Given the description of an element on the screen output the (x, y) to click on. 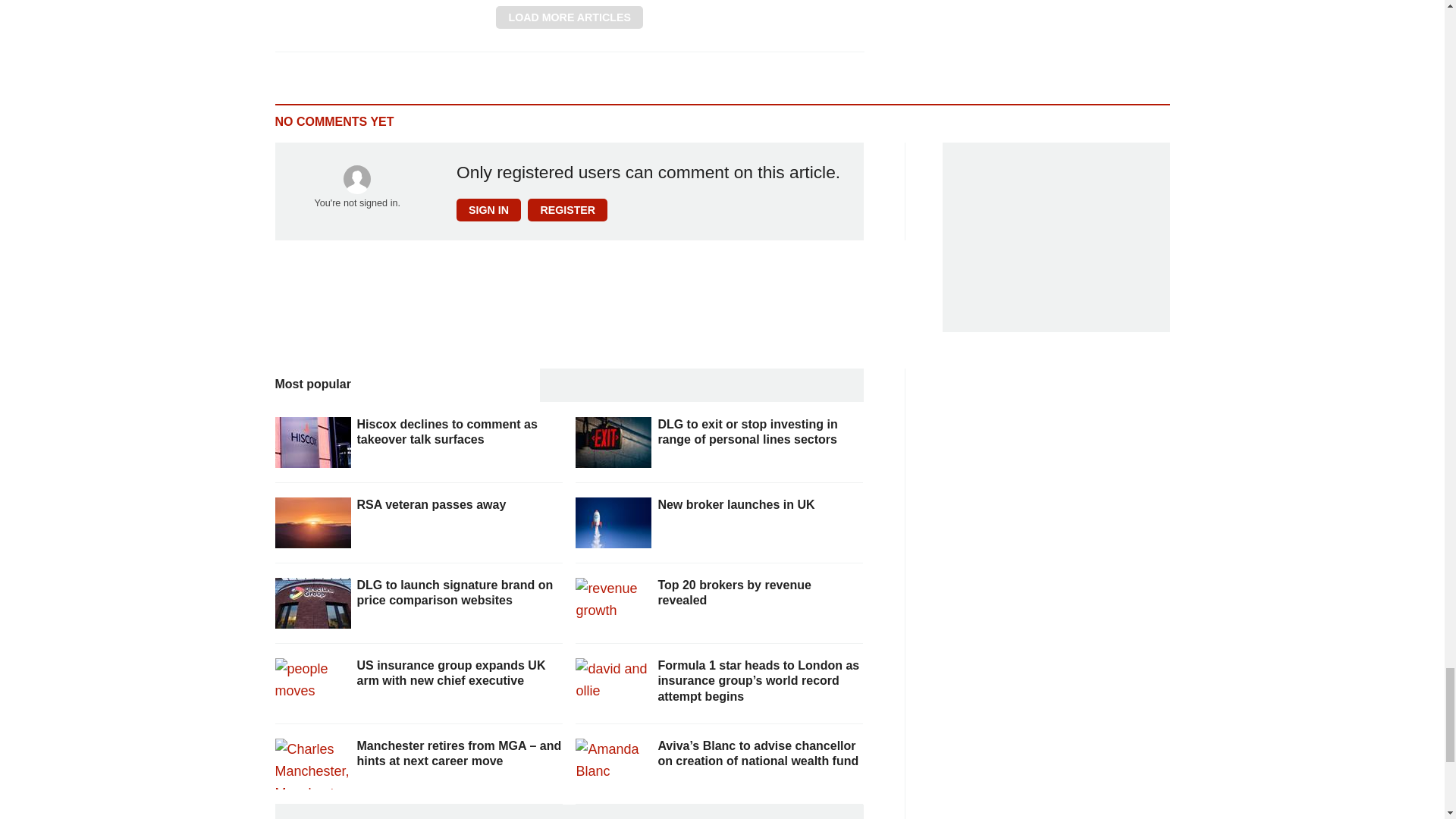
3rd party ad content (1055, 237)
